Given the description of an element on the screen output the (x, y) to click on. 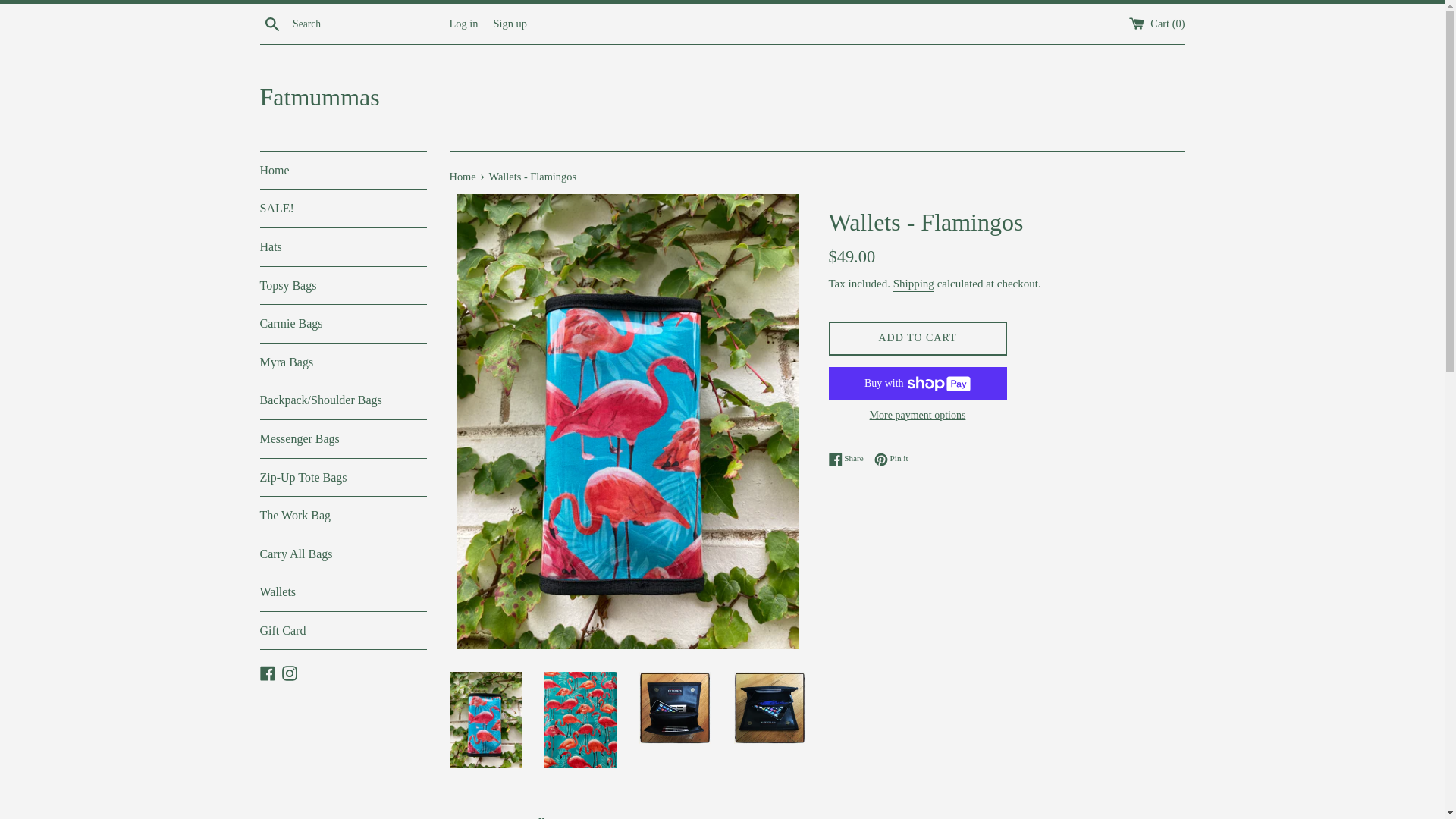
Shipping Element type: text (913, 284)
Facebook Element type: text (266, 671)
Carmie Bags Element type: text (342, 323)
Zip-Up Tote Bags Element type: text (342, 476)
Cart (0) Element type: text (1157, 22)
ADD TO CART Element type: text (917, 338)
Topsy Bags Element type: text (342, 285)
Wallets Element type: text (342, 592)
Gift Card Element type: text (342, 630)
More payment options Element type: text (917, 415)
Home Element type: text (342, 170)
Hats Element type: text (342, 247)
Backpack/Shoulder Bags Element type: text (342, 400)
Carry All Bags Element type: text (342, 554)
Instagram Element type: text (289, 671)
Share
Share on Facebook Element type: text (849, 458)
Fatmummas Element type: text (721, 97)
Log in Element type: text (462, 22)
Messenger Bags Element type: text (342, 439)
SALE! Element type: text (342, 208)
Pin it
Pin on Pinterest Element type: text (891, 458)
The Work Bag Element type: text (342, 515)
Home Element type: text (463, 176)
Search Element type: text (271, 22)
Myra Bags Element type: text (342, 362)
Sign up Element type: text (510, 22)
